Given the description of an element on the screen output the (x, y) to click on. 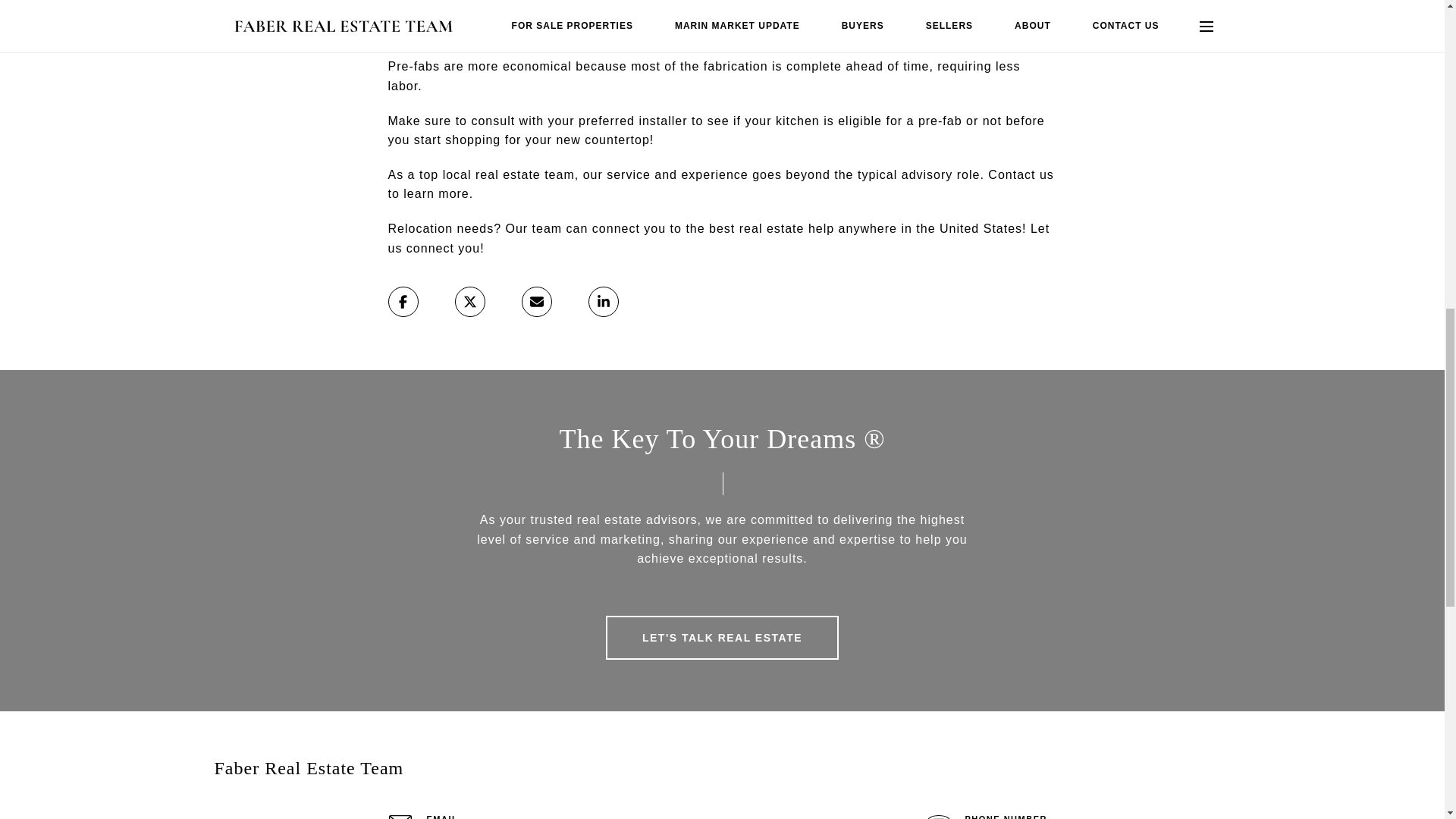
Let us connect you! (718, 237)
Contact us (1020, 174)
top local real estate team (497, 174)
